Given the description of an element on the screen output the (x, y) to click on. 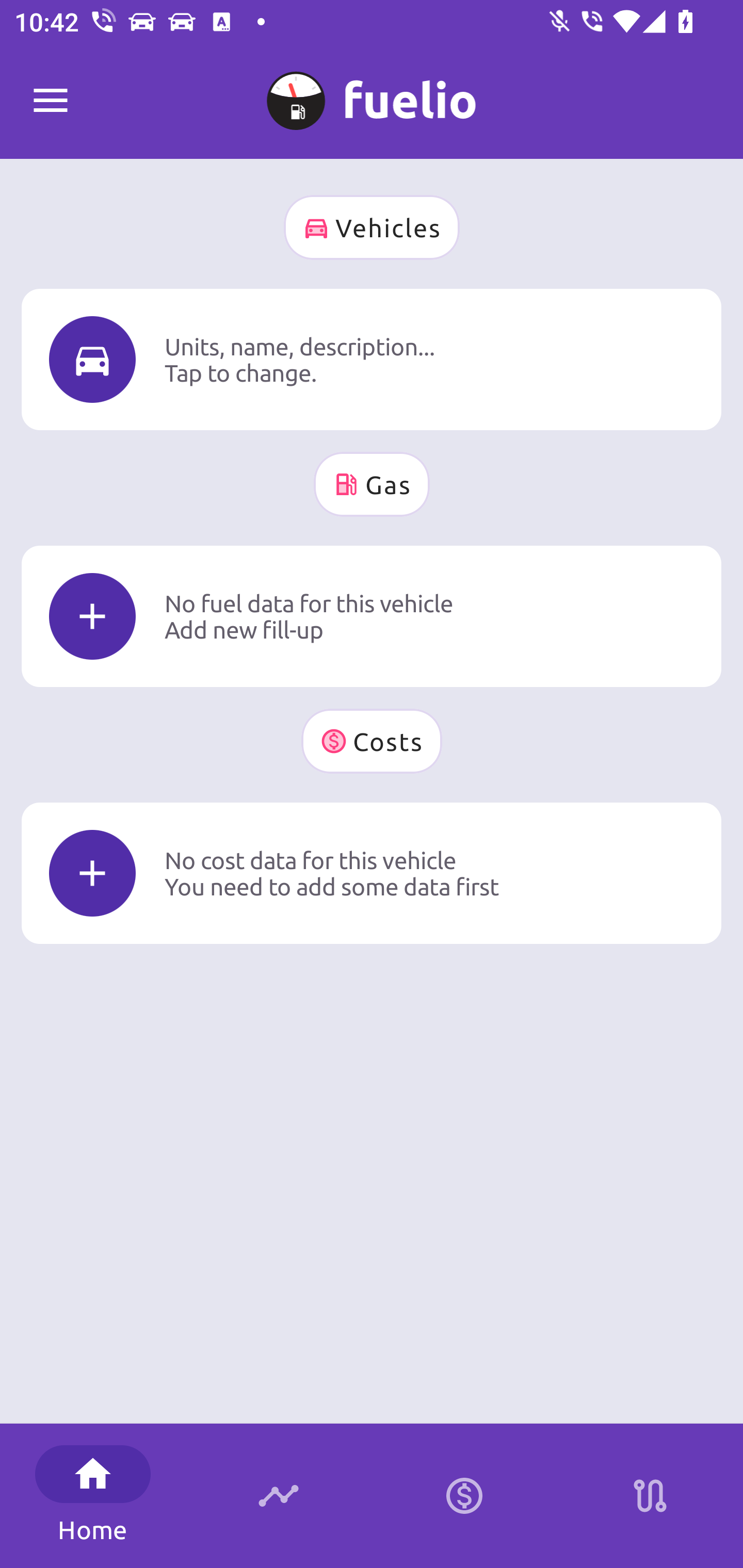
A No name 0 km (371, 92)
A No name 0 km (371, 92)
Fuelio (50, 101)
Vehicles (371, 227)
Icon Units, name, description...
Tap to change. (371, 358)
Icon (92, 359)
Gas (371, 484)
Icon No fuel data for this vehicle
Add new fill-up (371, 615)
Icon (92, 616)
Costs (371, 740)
Icon (92, 873)
Timeline (278, 1495)
Calculator (464, 1495)
Stations on route (650, 1495)
